Given the description of an element on the screen output the (x, y) to click on. 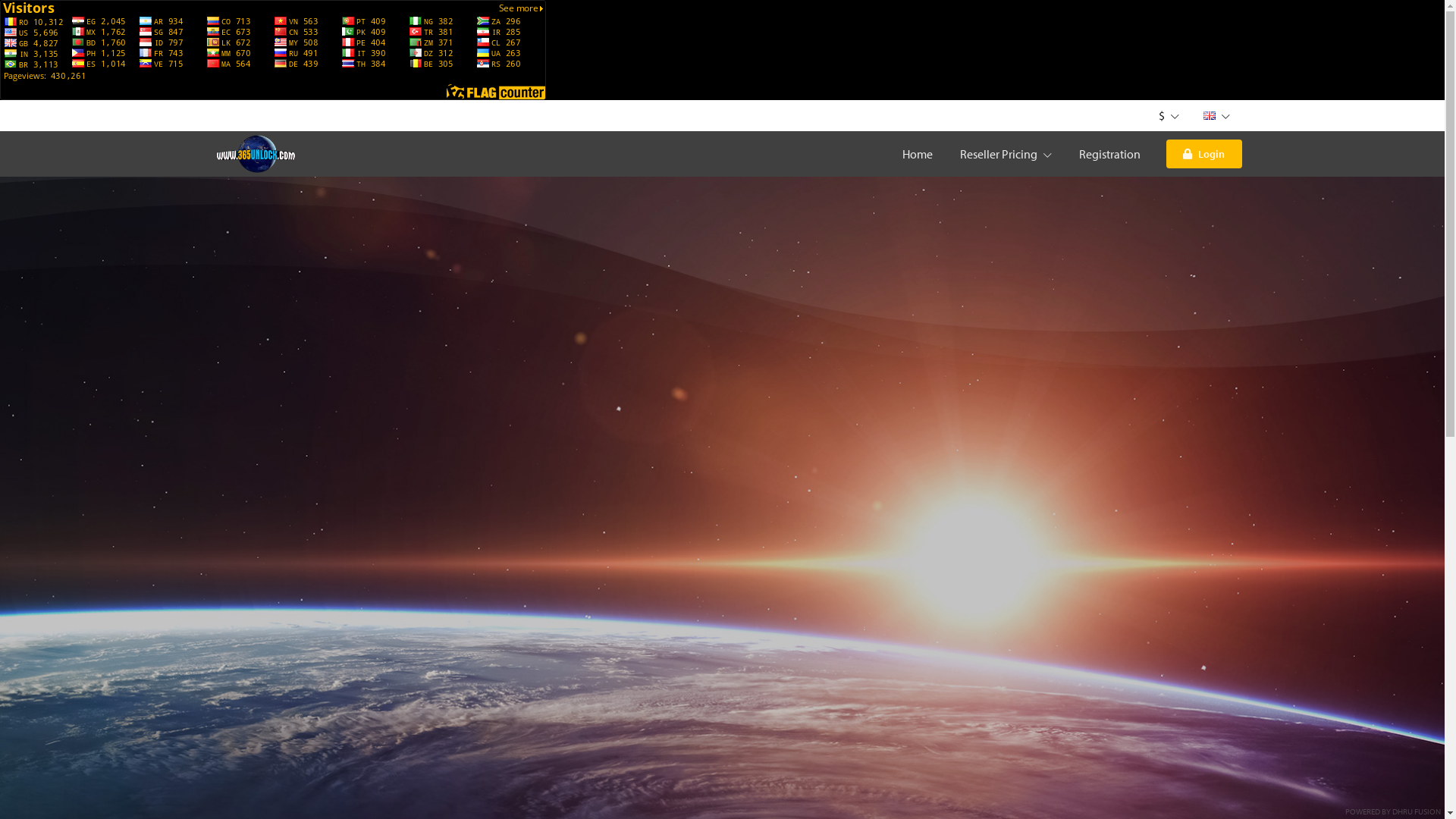
$ Element type: text (1168, 115)
Login Element type: text (1204, 153)
Registration Element type: text (1108, 153)
Reseller Pricing Element type: text (1005, 153)
Home Element type: text (917, 153)
DHRU FUSION Element type: text (1416, 810)
